Given the description of an element on the screen output the (x, y) to click on. 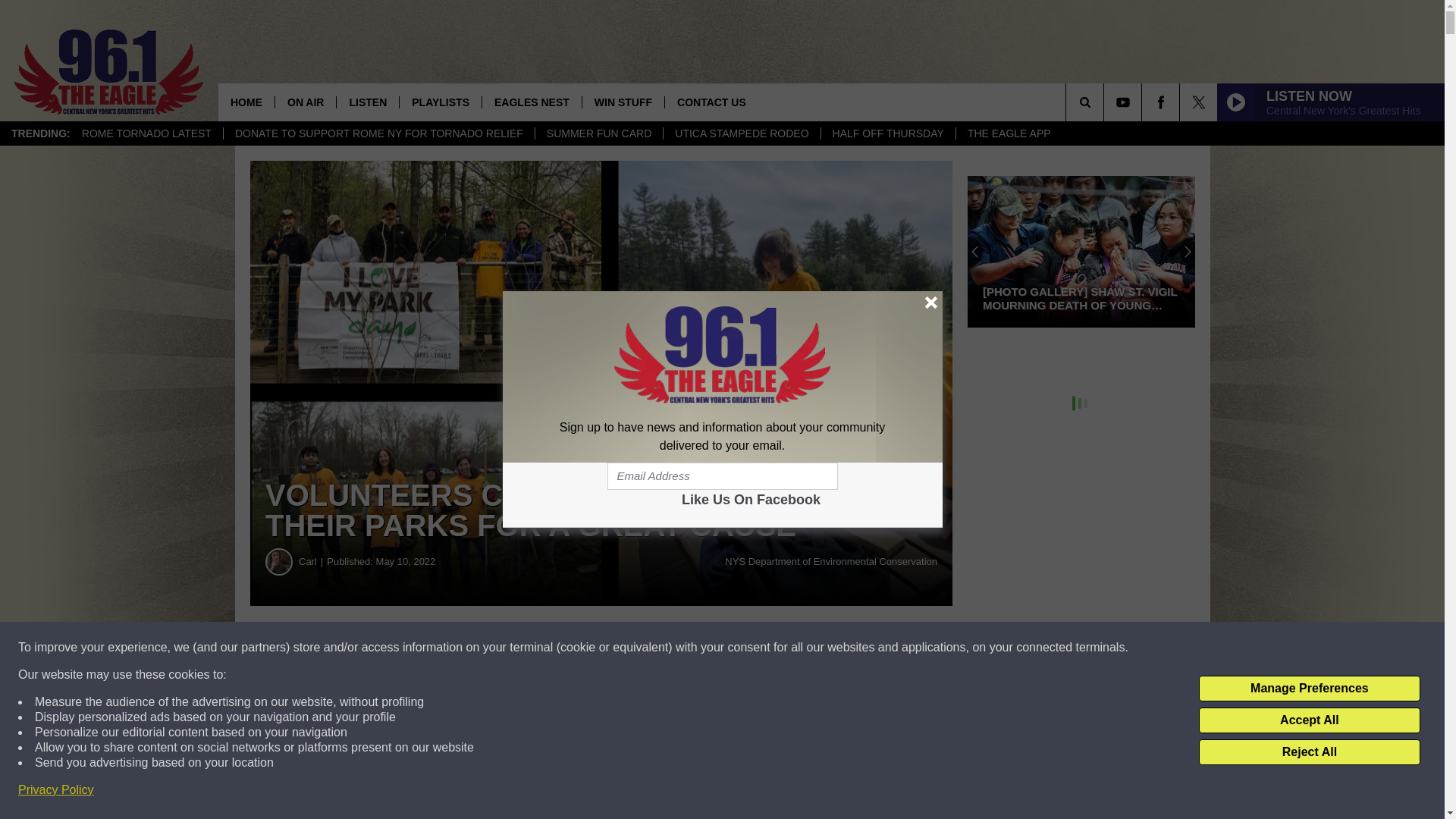
PLAYLISTS (439, 102)
LISTEN (367, 102)
Share on Twitter (741, 647)
CONTACT US (710, 102)
SEARCH (1106, 102)
Manage Preferences (1309, 688)
SUMMER FUN CARD (598, 133)
WIN STUFF (621, 102)
Accept All (1309, 720)
EAGLES NEST (530, 102)
ON AIR (305, 102)
DONATE TO SUPPORT ROME NY FOR TORNADO RELIEF (378, 133)
Privacy Policy (55, 789)
Email Address (722, 475)
Reject All (1309, 751)
